Given the description of an element on the screen output the (x, y) to click on. 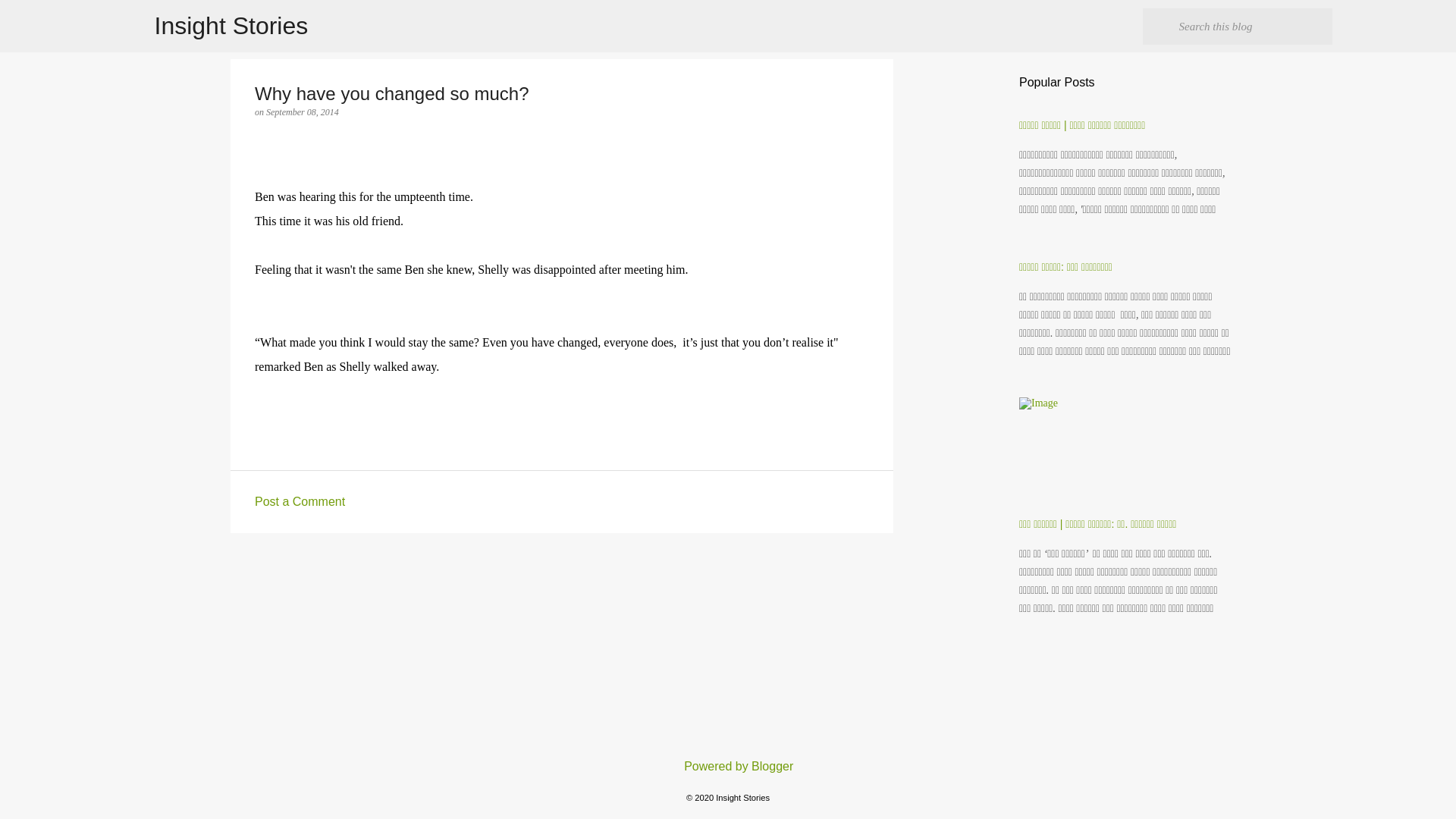
Powered by Blogger (727, 766)
Insight Stories (231, 25)
September 08, 2014 (302, 112)
Post a Comment (299, 501)
permanent link (302, 112)
